Given the description of an element on the screen output the (x, y) to click on. 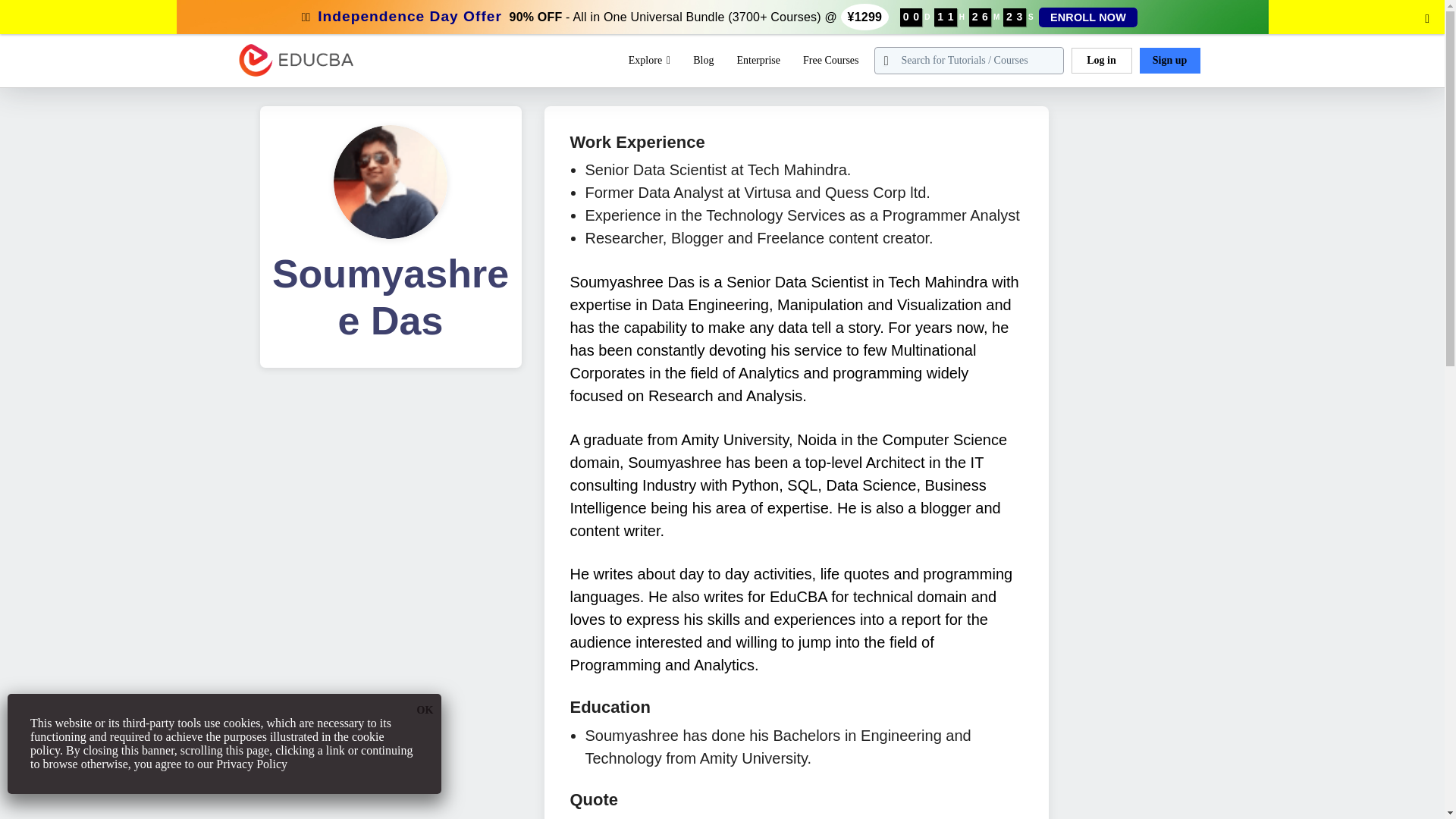
Free Courses (830, 60)
EDUCBA (263, 84)
Enterprise (758, 60)
Sign up (1168, 60)
Explore (649, 60)
Search (43, 19)
Privacy Policy (250, 763)
Log in (1100, 60)
